Given the description of an element on the screen output the (x, y) to click on. 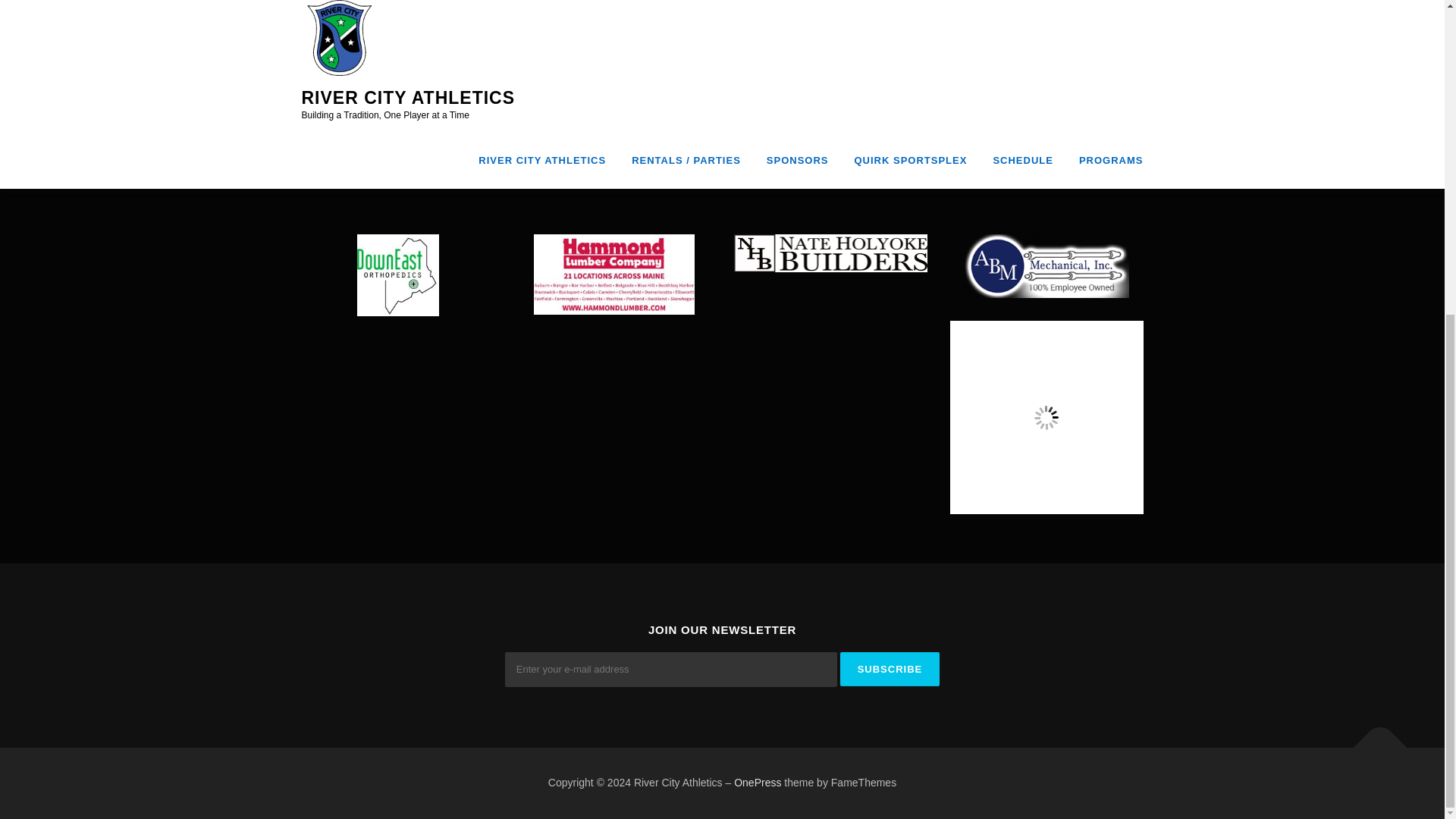
www.westcoastgoalkeeping.com (377, 106)
Subscribe (890, 668)
OnePress (756, 782)
Back To Top (1372, 739)
Subscribe (890, 668)
